Given the description of an element on the screen output the (x, y) to click on. 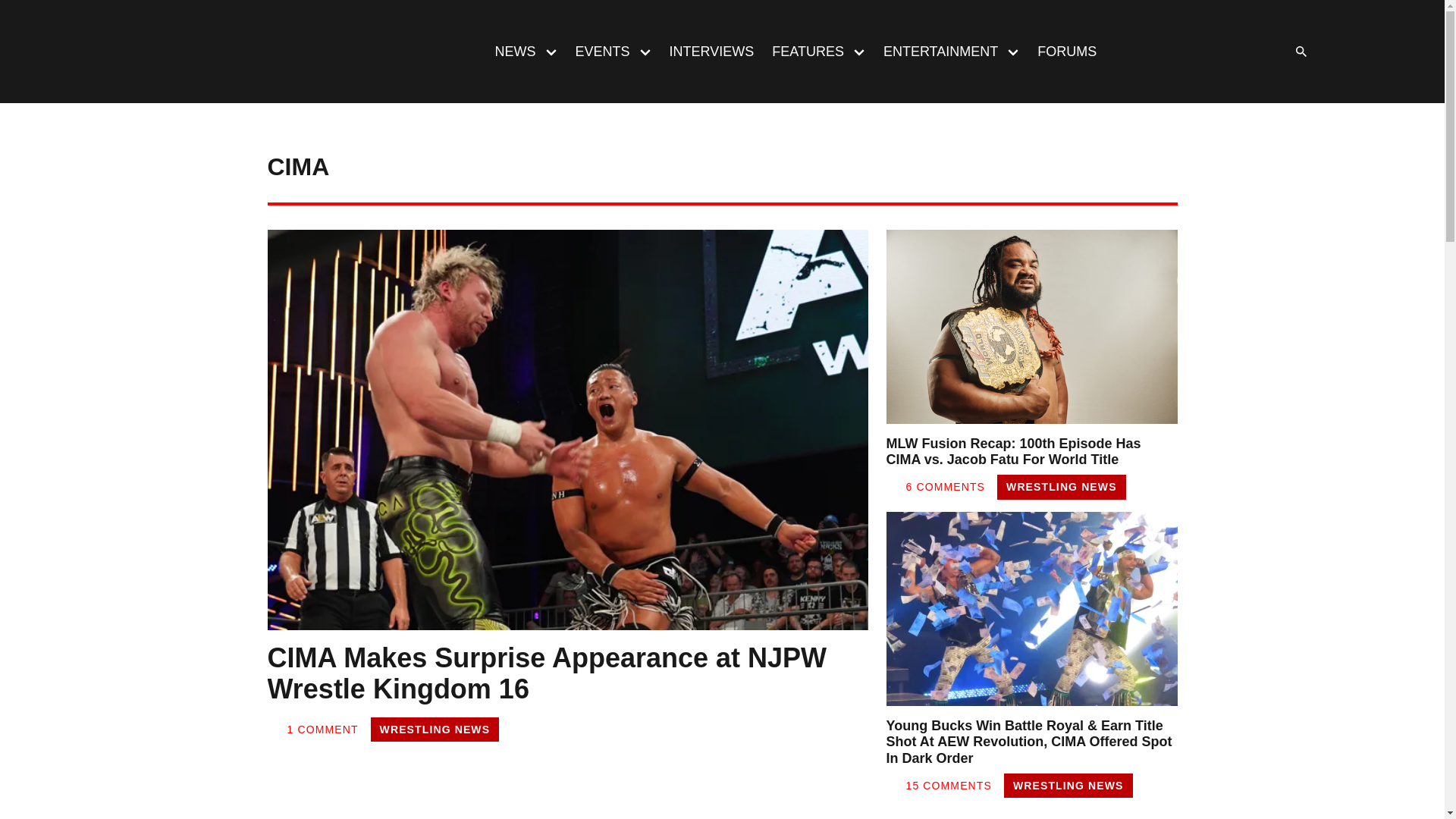
NEWS (509, 51)
YouTube (1248, 51)
Facebook (1156, 51)
Open menu (550, 51)
Open menu (859, 51)
FEATURES (803, 51)
Open menu (645, 51)
FORUMS (1066, 51)
EVENTS (597, 51)
Instagram (1217, 51)
Twitter (1186, 51)
CIMA Makes Surprise Appearance at NJPW Wrestle Kingdom 16 (566, 676)
